Given the description of an element on the screen output the (x, y) to click on. 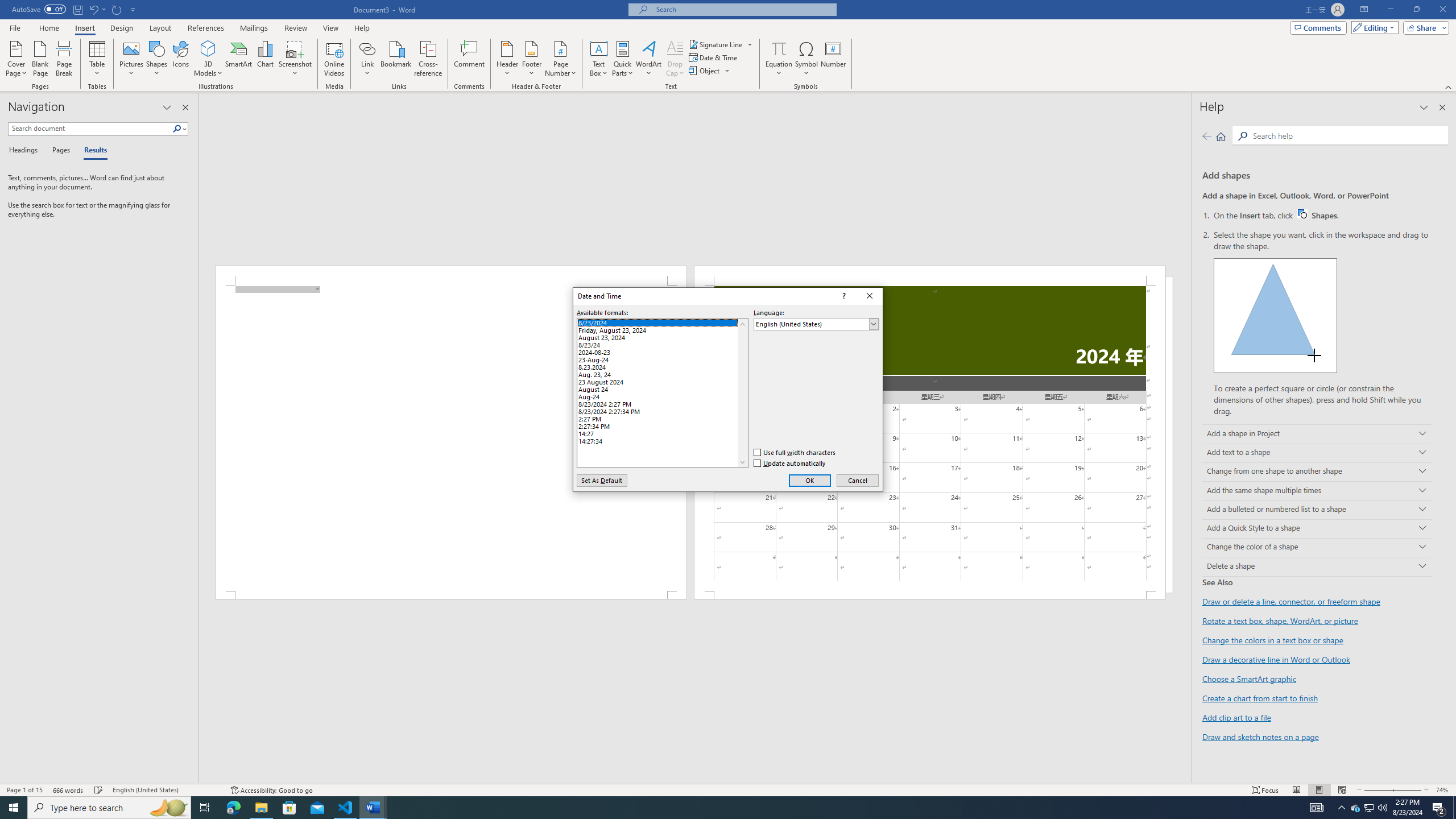
Screenshot (295, 58)
August 24 (662, 387)
Aug-24 (662, 395)
Task View (204, 807)
Line down (742, 461)
Language: (816, 323)
OK (809, 480)
3D Models (208, 58)
Change the color of a shape (1316, 547)
Choose a SmartArt graphic (1248, 678)
